Given the description of an element on the screen output the (x, y) to click on. 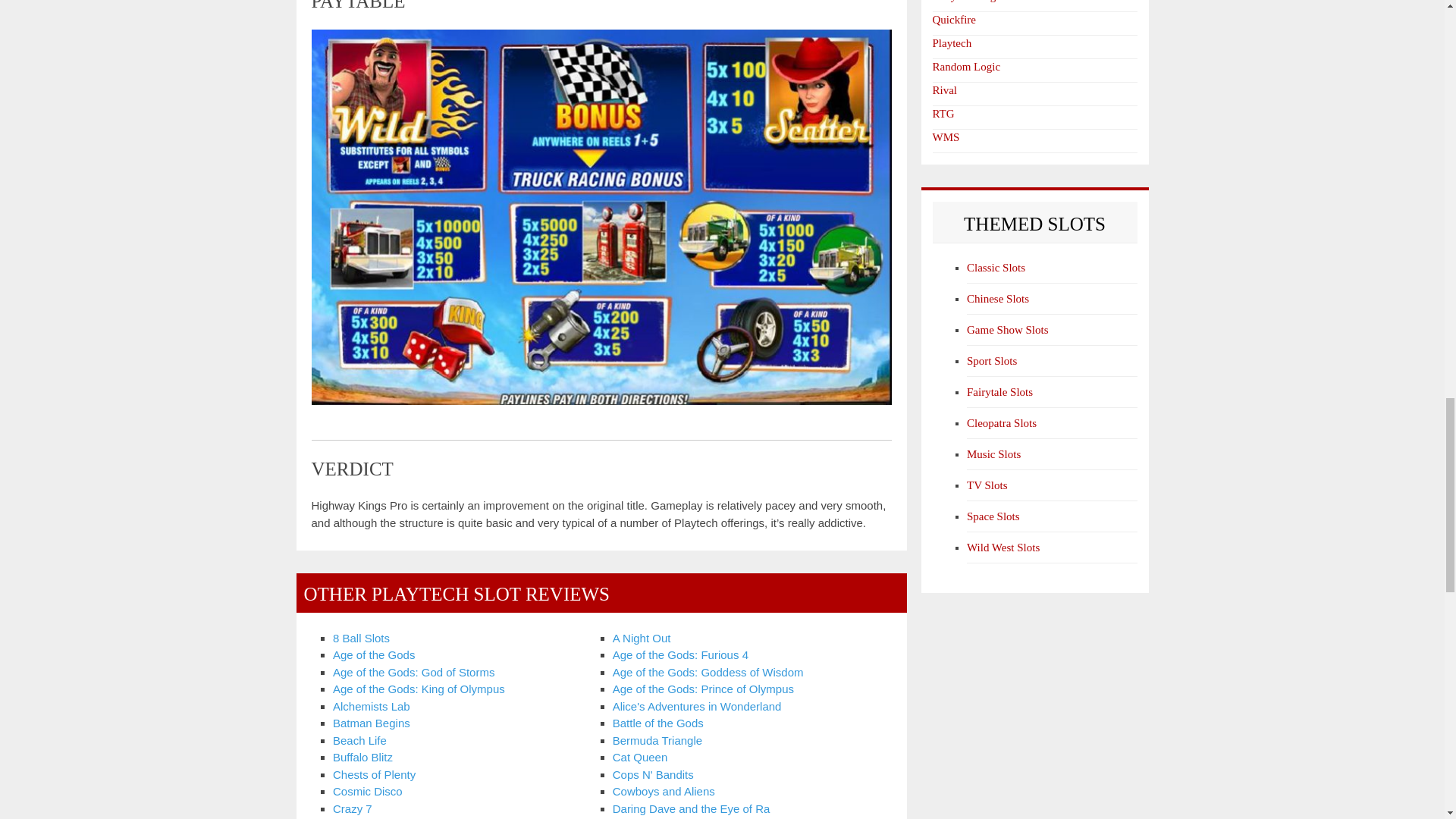
Age of the Gods: God of Storms (414, 671)
Age of the Gods: King of Olympus (419, 688)
Bermuda Triangle (656, 739)
A Night Out (641, 637)
Cosmic Disco (368, 790)
Age of the Gods: Goddess of Wisdom (707, 671)
Cowboys and Aliens (663, 790)
Age of the Gods: Prince of Olympus (702, 688)
Alchemists Lab (371, 706)
Daring Dave and the Eye of Ra (691, 808)
Beach Life (360, 739)
Crazy 7 (352, 808)
Age of the Gods: Furious 4 (680, 654)
Alice's Adventures in Wonderland (696, 706)
Age of the Gods (373, 654)
